Given the description of an element on the screen output the (x, y) to click on. 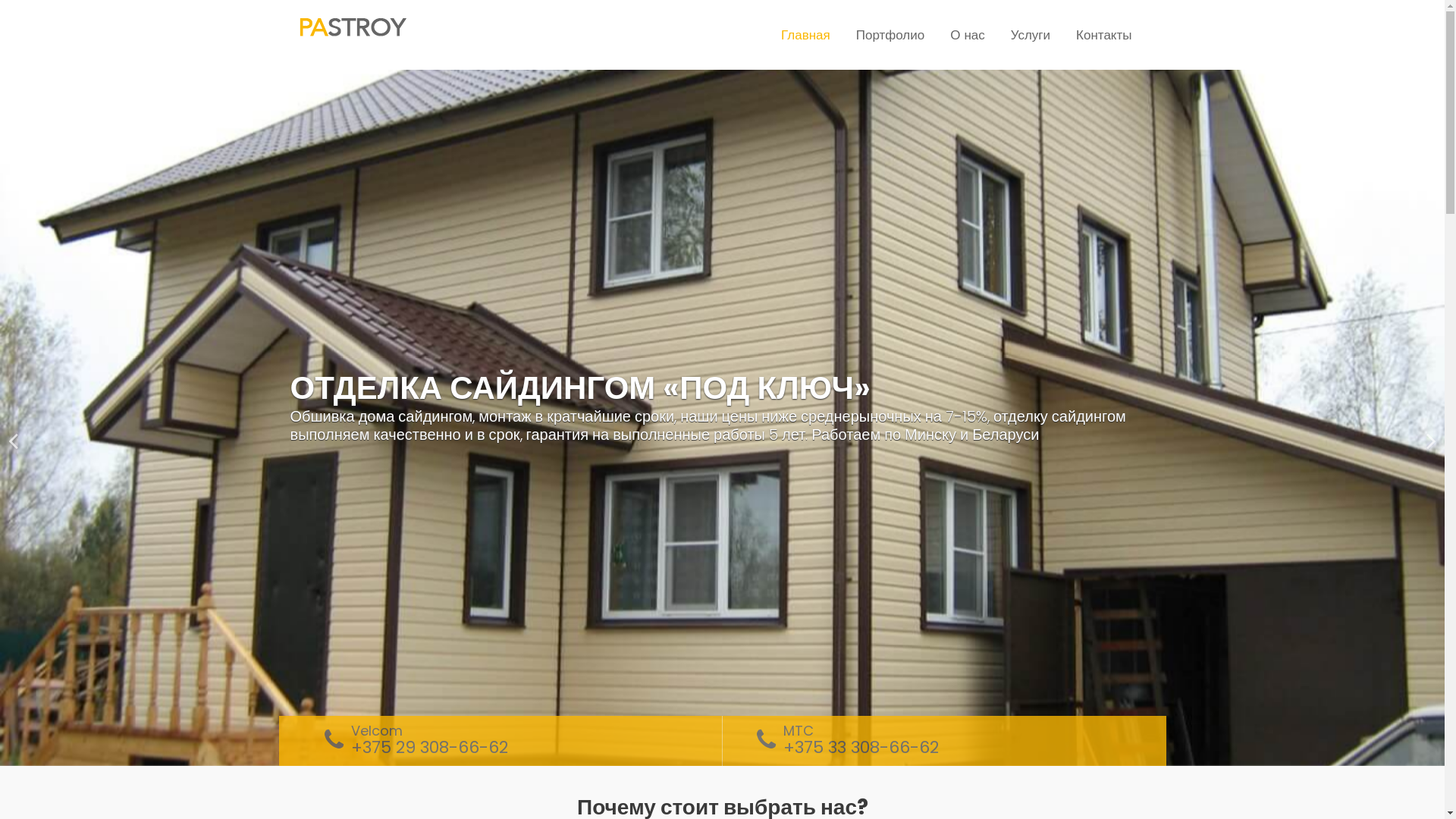
+375 29 308-66-62 Element type: text (428, 747)
+375 33 308-66-62 Element type: text (860, 747)
Skip to content Element type: text (0, 0)
Pastroy.by Element type: hover (350, 26)
